Given the description of an element on the screen output the (x, y) to click on. 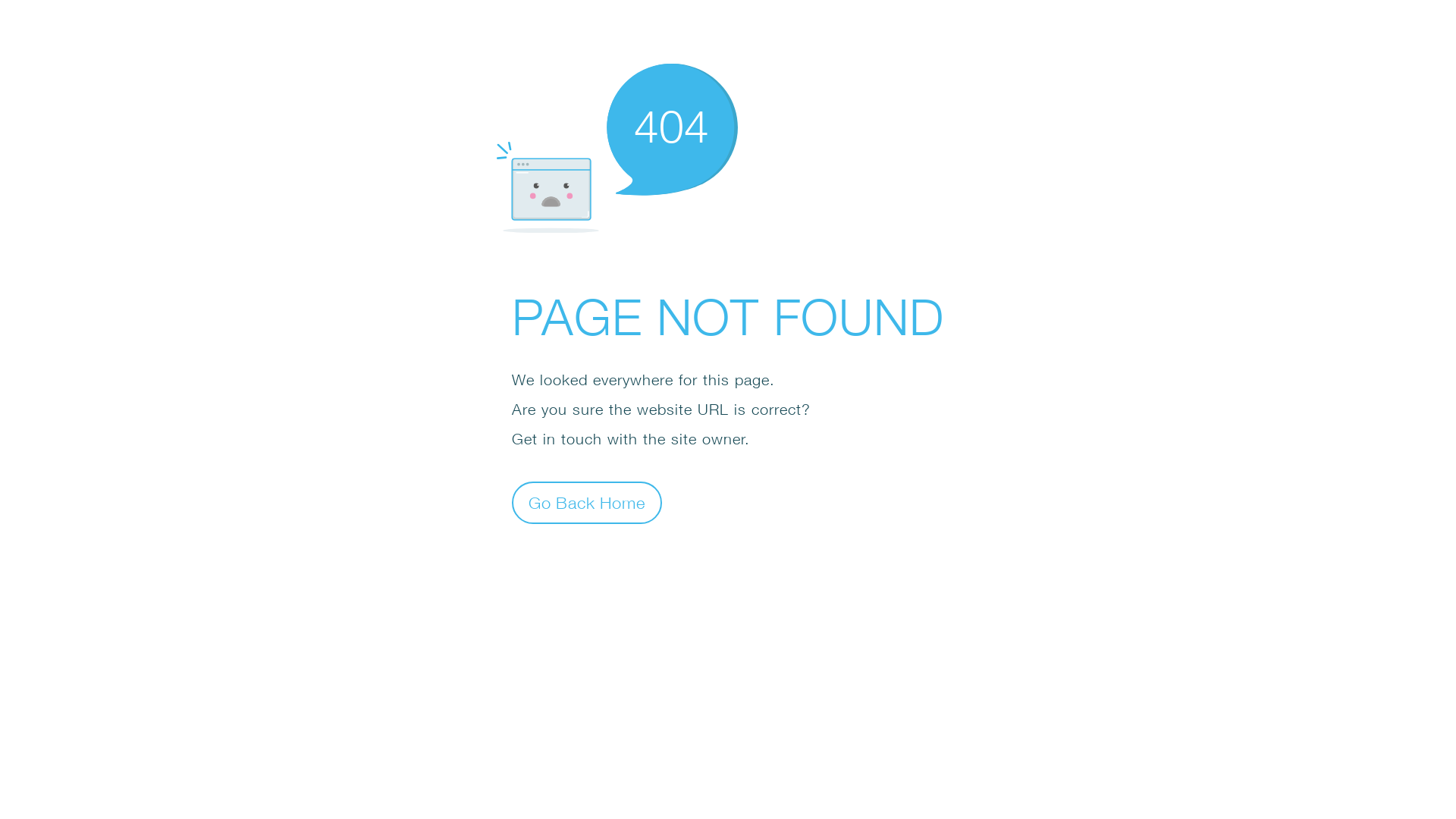
Go Back Home Element type: text (586, 502)
